Given the description of an element on the screen output the (x, y) to click on. 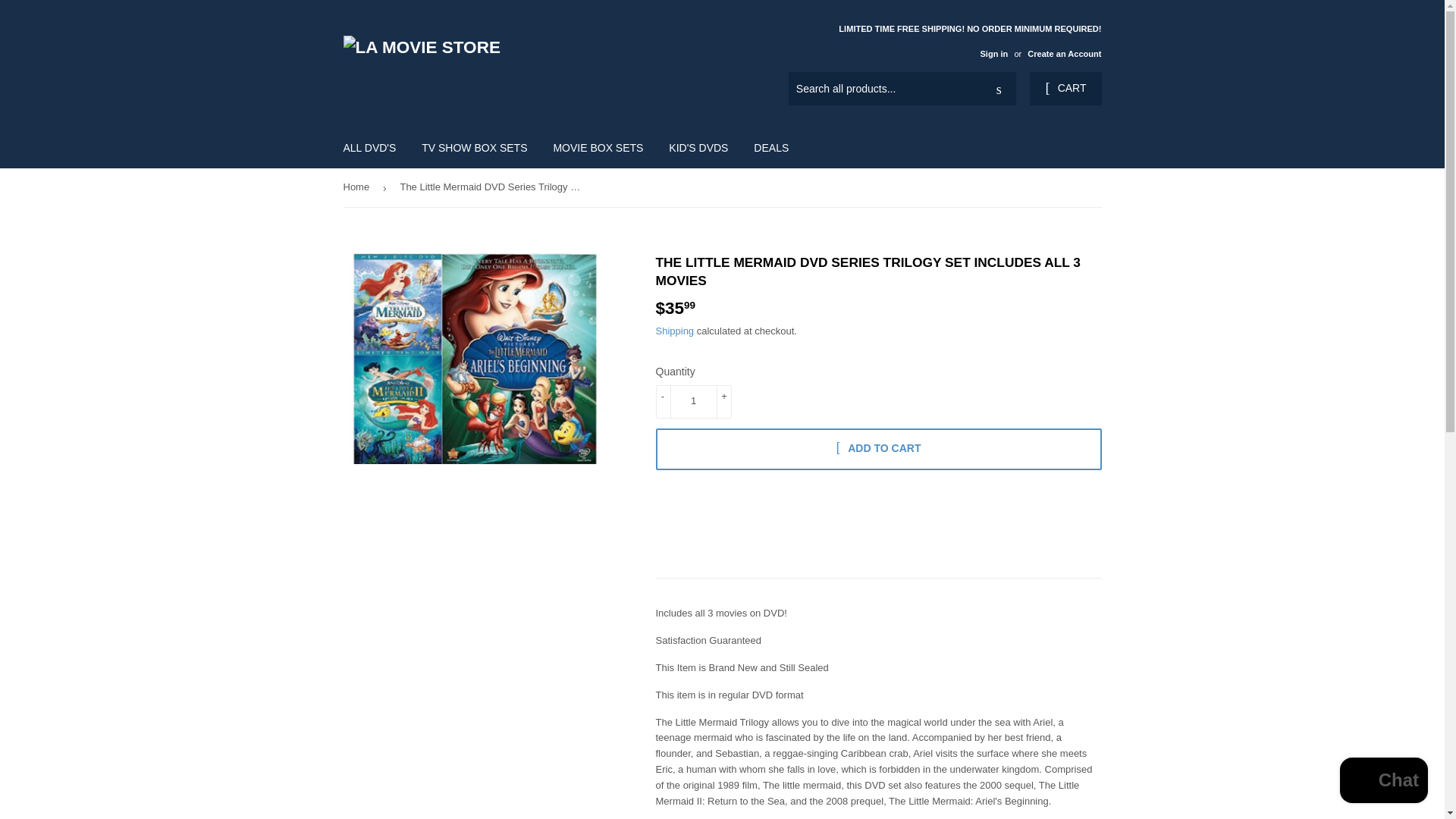
Shipping (674, 330)
LIMITED TIME FREE SHIPPING! NO ORDER MINIMUM REQUIRED! (969, 40)
ALL DVD'S (369, 147)
Create an Account (1063, 53)
1 (692, 401)
ADD TO CART (877, 449)
Sign in (993, 53)
Shopify online store chat (1383, 781)
Search (998, 89)
KID'S DVDS (698, 147)
